Given the description of an element on the screen output the (x, y) to click on. 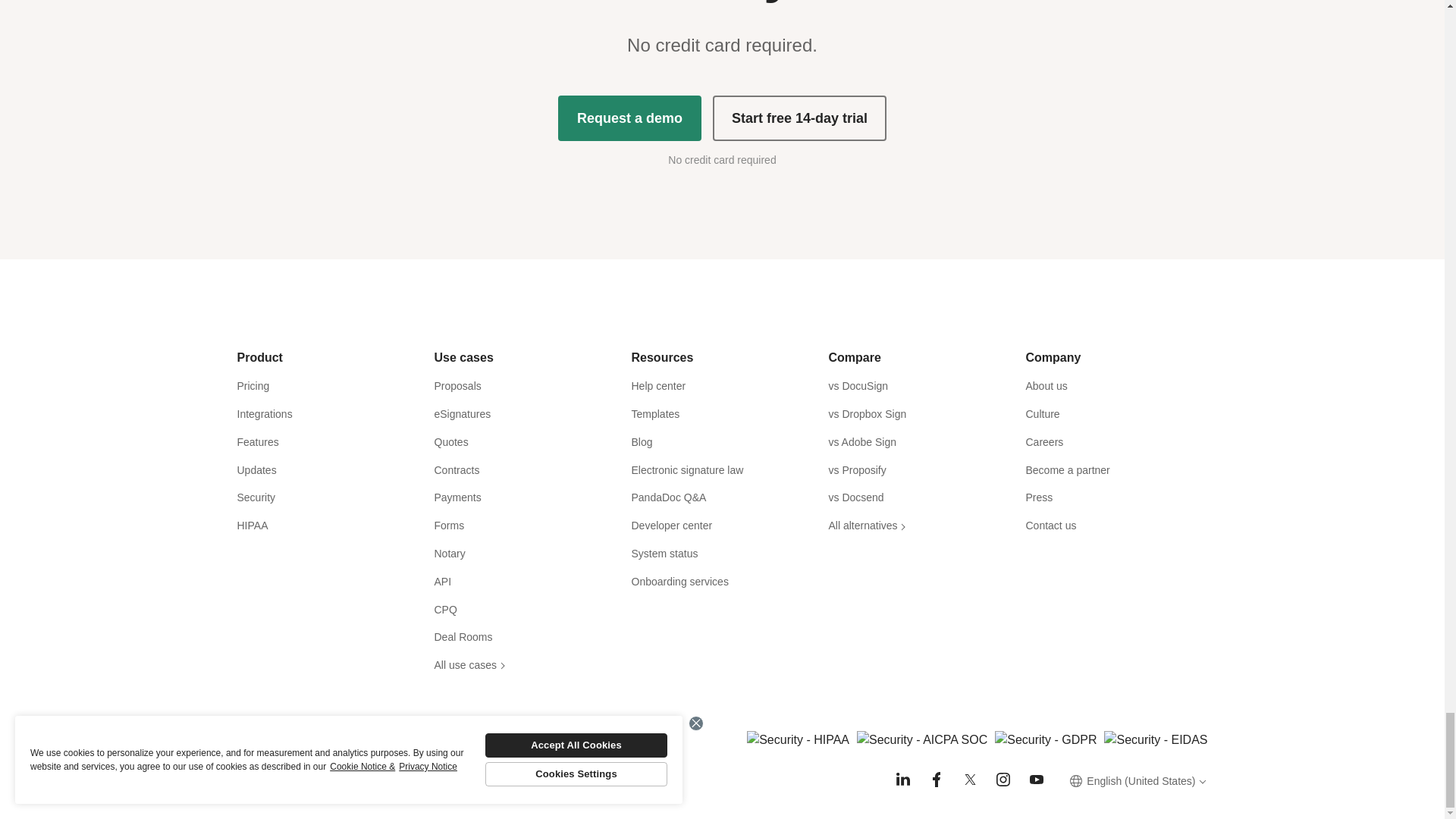
LinkedIn (902, 779)
Twitter (969, 779)
Youtube (1036, 779)
Instagram (1002, 779)
Facebook (935, 779)
